Given the description of an element on the screen output the (x, y) to click on. 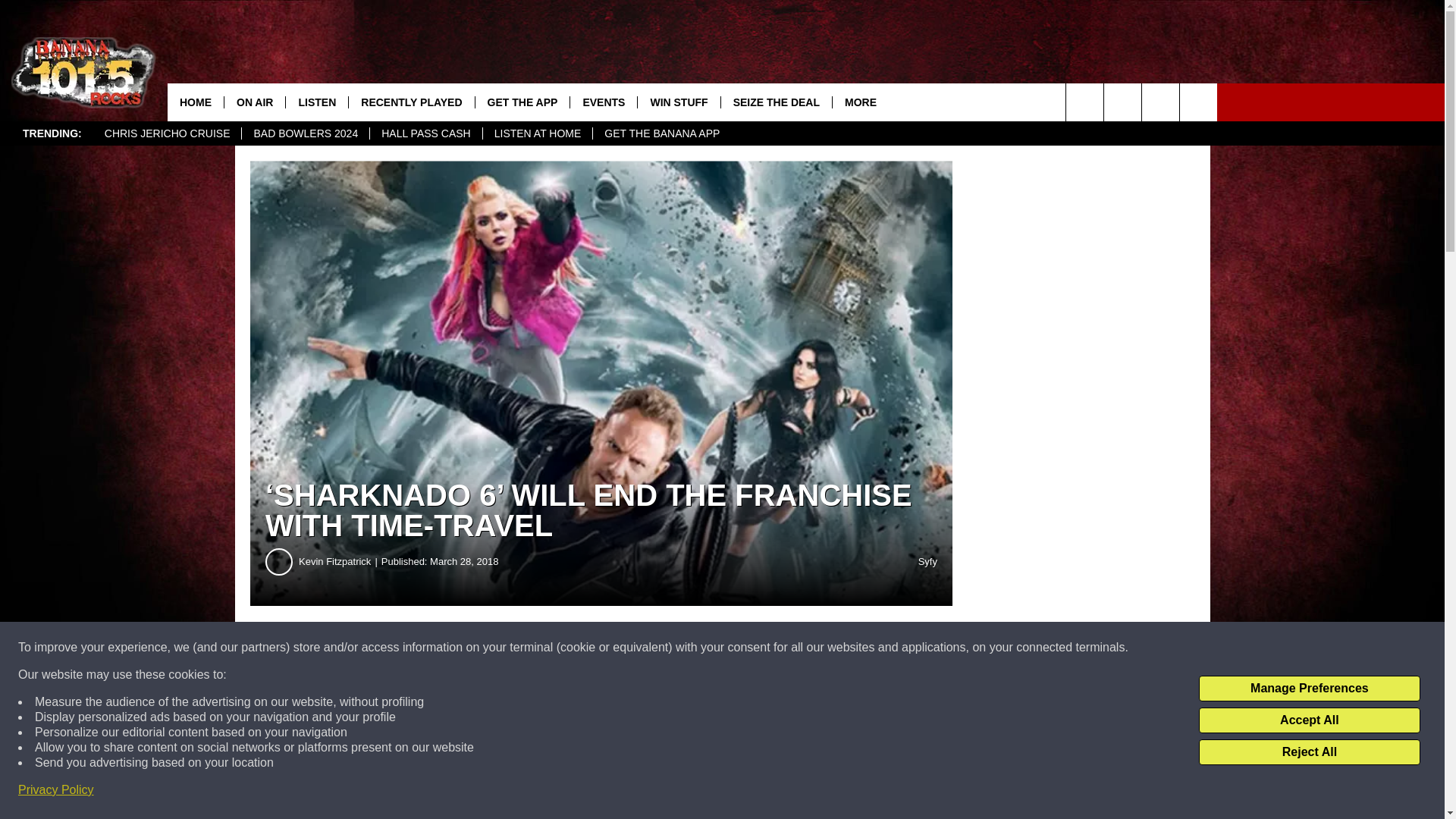
HOME (195, 102)
HALL PASS CASH (425, 133)
GET THE BANANA APP (661, 133)
SEIZE THE DEAL (775, 102)
GET THE APP (522, 102)
Reject All (1309, 751)
EVENTS (603, 102)
Share on Facebook (460, 647)
WIN STUFF (678, 102)
ON AIR (254, 102)
